Given the description of an element on the screen output the (x, y) to click on. 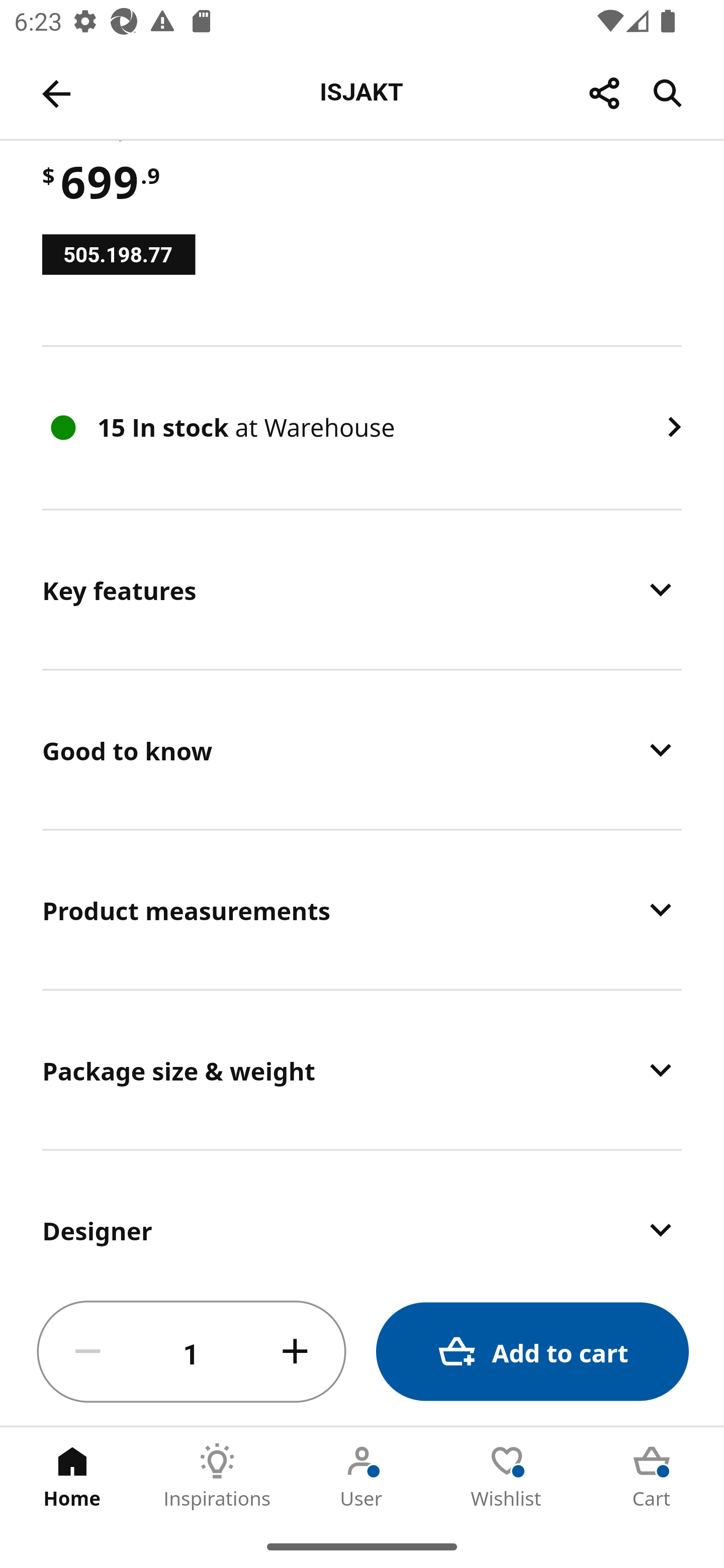
15 In stock at Warehouse (361, 427)
Key features (361, 589)
Good to know (361, 749)
Product measurements (361, 909)
Package size & weight (361, 1069)
Designer (361, 1214)
Add to cart (531, 1352)
1 (191, 1352)
Home
Tab 1 of 5 (72, 1476)
Inspirations
Tab 2 of 5 (216, 1476)
User
Tab 3 of 5 (361, 1476)
Wishlist
Tab 4 of 5 (506, 1476)
Cart
Tab 5 of 5 (651, 1476)
